Given the description of an element on the screen output the (x, y) to click on. 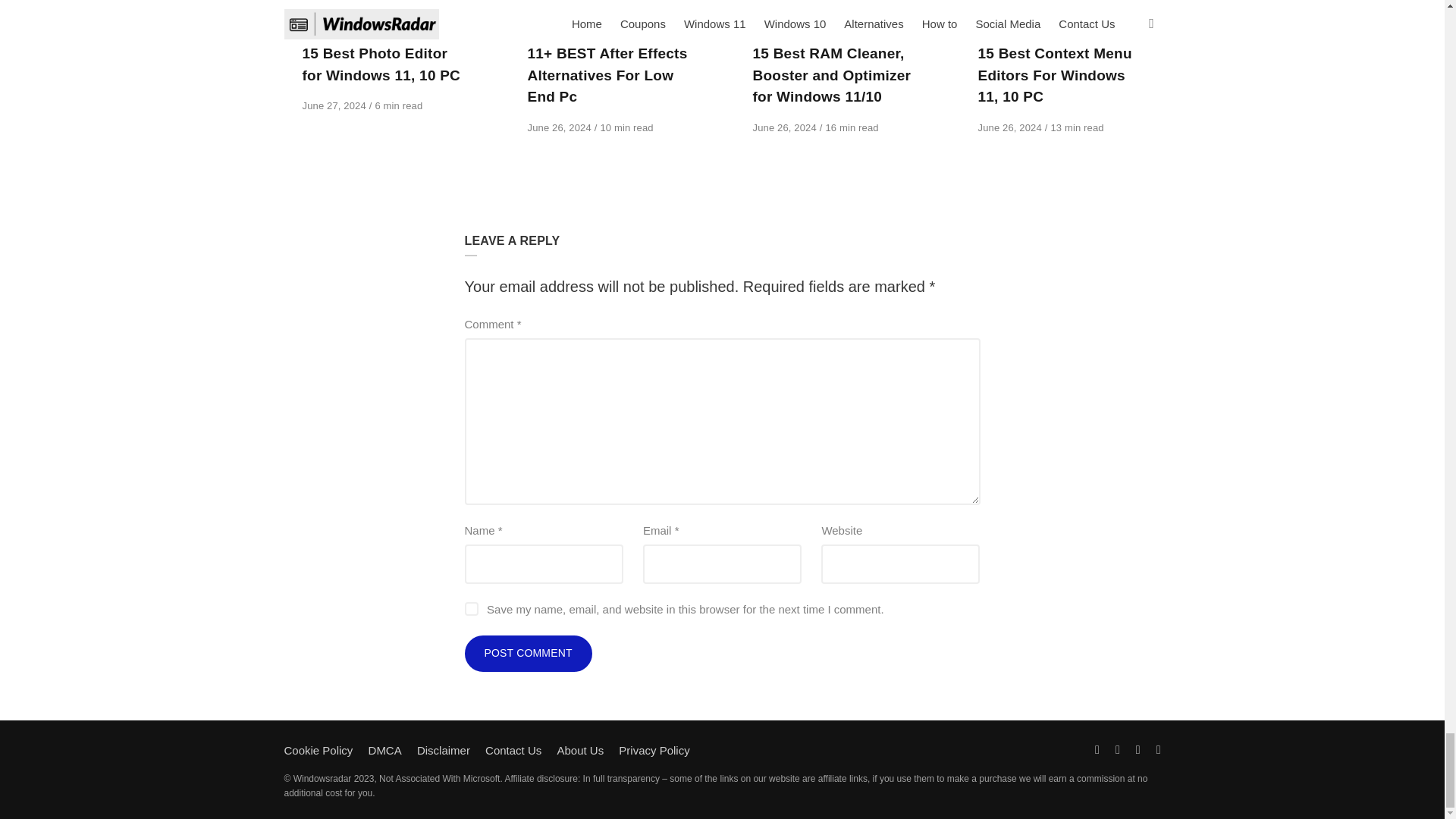
June 27, 2024 (334, 105)
yes (470, 608)
Post Comment (527, 653)
June 26, 2024 (560, 127)
